Given the description of an element on the screen output the (x, y) to click on. 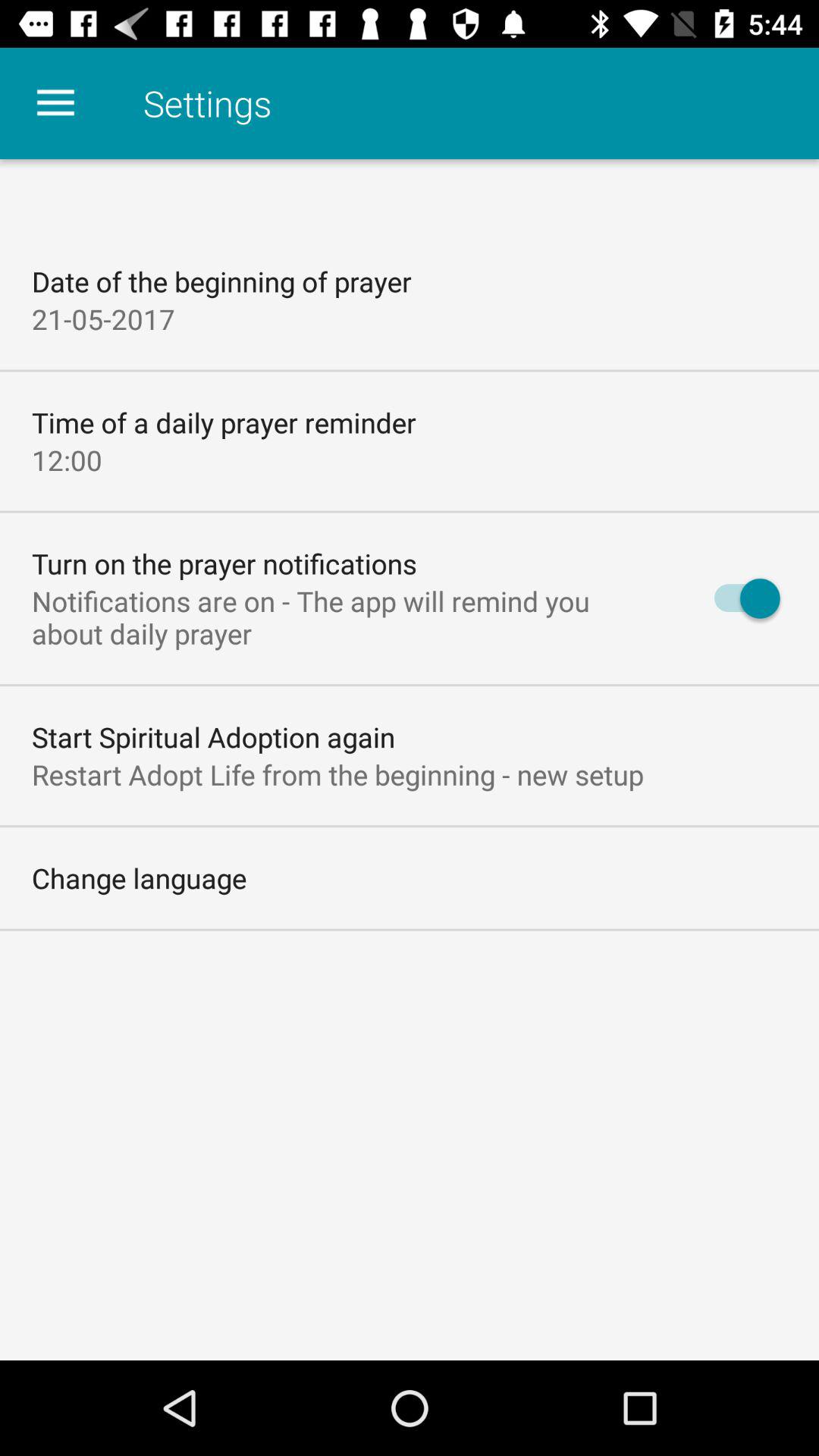
turn off the item next to the settings icon (55, 103)
